Given the description of an element on the screen output the (x, y) to click on. 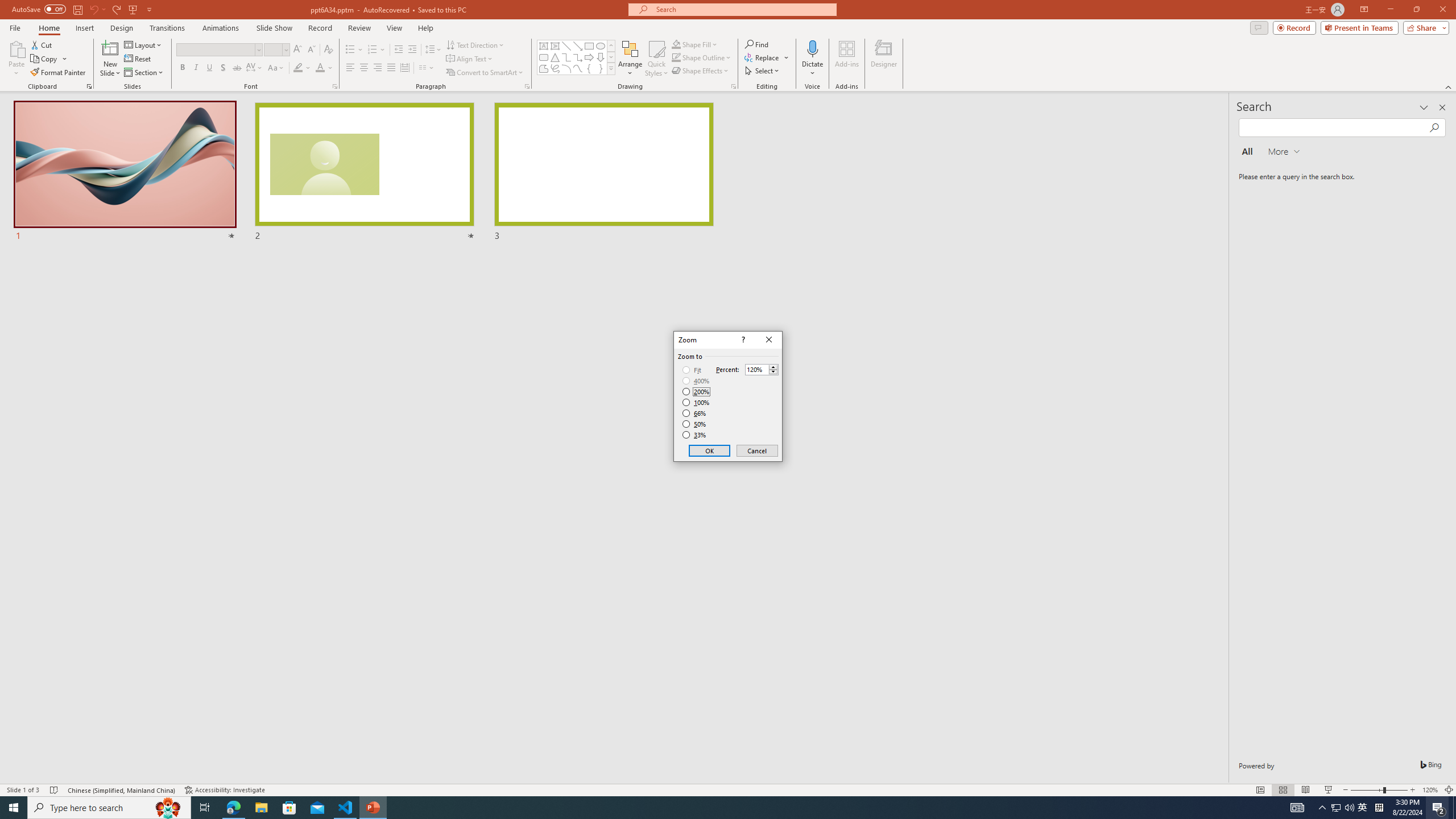
Cancel (756, 450)
400% (696, 380)
